Given the description of an element on the screen output the (x, y) to click on. 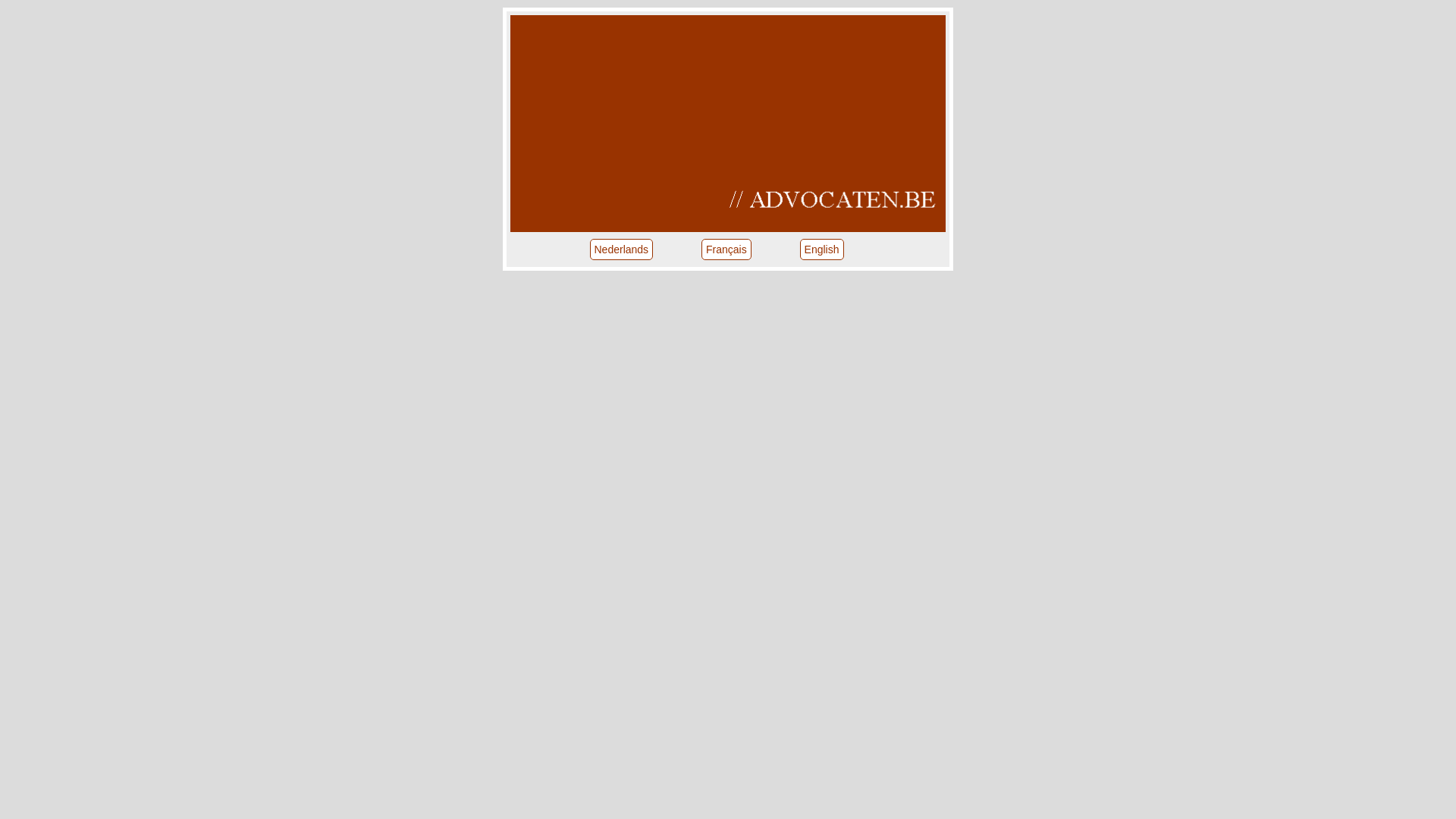
English Element type: text (821, 249)
Nederlands Element type: text (621, 249)
